Given the description of an element on the screen output the (x, y) to click on. 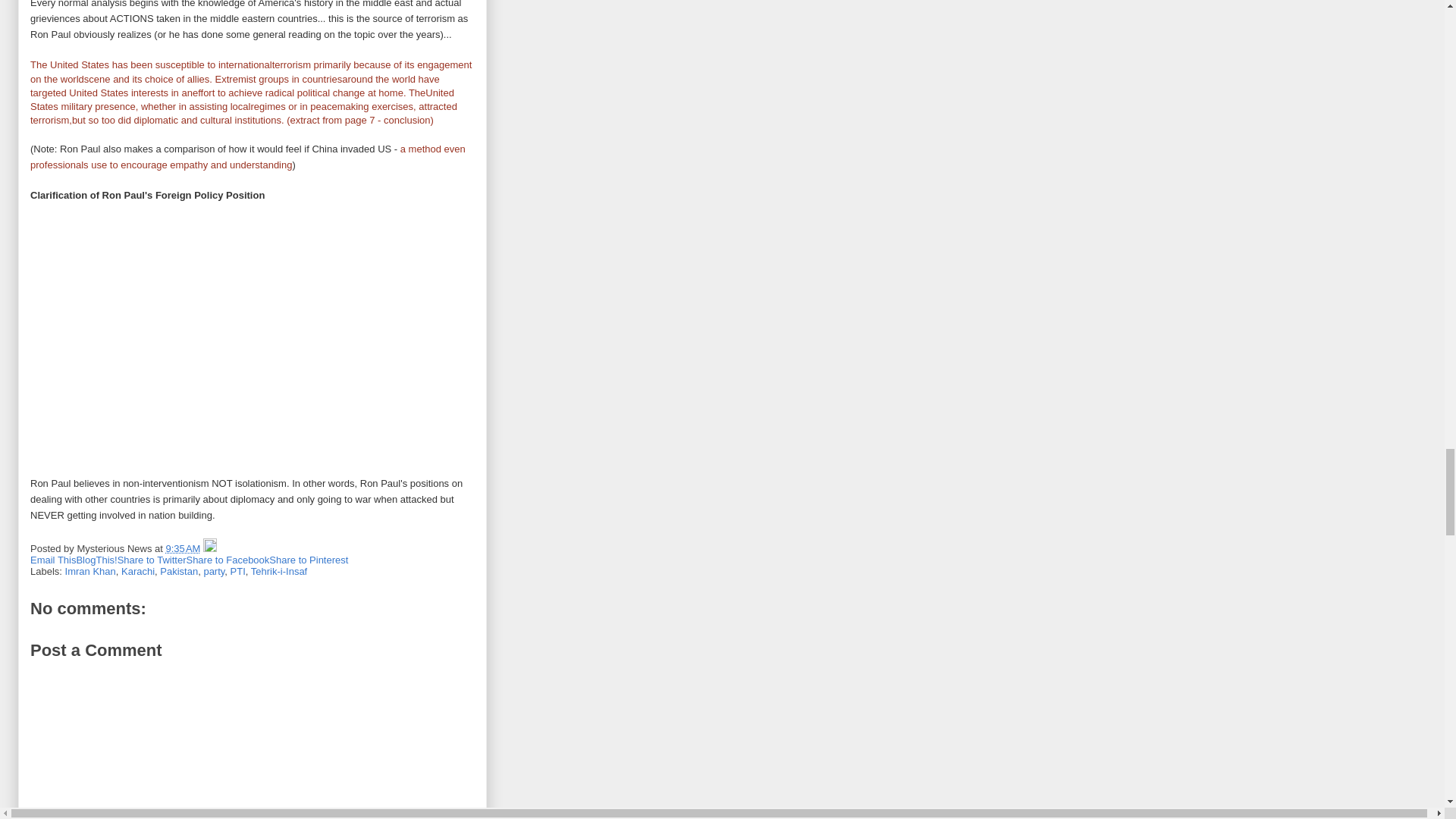
party (213, 571)
The United States has been susceptible to international (151, 64)
Share to Twitter (151, 559)
PTI (238, 571)
Share to Facebook (227, 559)
effort to achieve radical political change at home. The (308, 92)
regimes or in peacemaking exercises, attracted terrorism, (243, 113)
around the world have targeted United States interests in an (234, 84)
United States military presence, whether in assisting local (242, 99)
Karachi (137, 571)
Share to Pinterest (308, 559)
Email This (52, 559)
terrorism primarily because of its engagement on the world (250, 71)
